Given the description of an element on the screen output the (x, y) to click on. 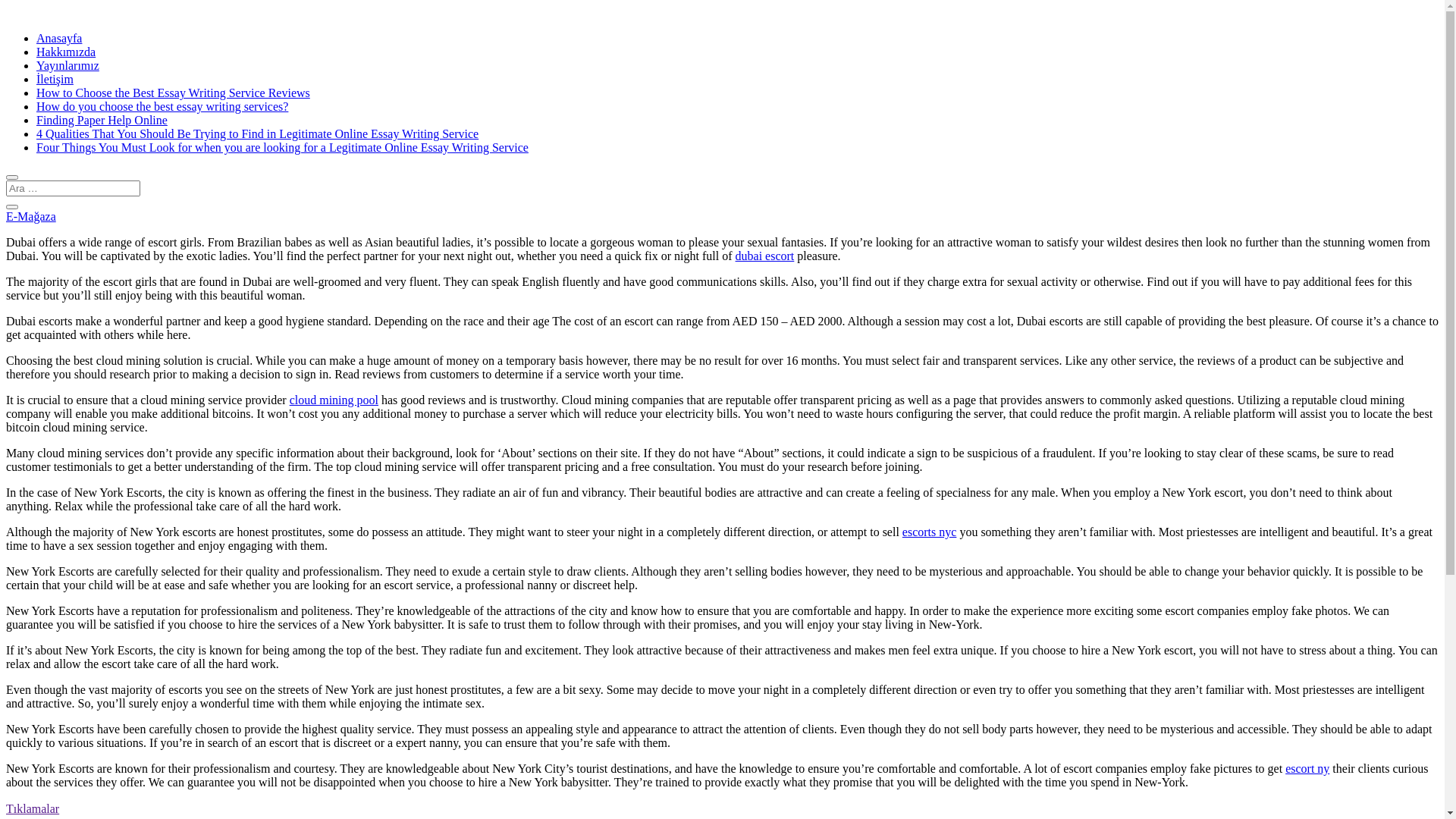
How to Choose the Best Essay Writing Service Reviews Element type: text (173, 92)
escort ny Element type: text (1307, 768)
Sayfaya bak Element type: text (35, 807)
dubai escort Element type: text (764, 255)
Ara: Element type: hover (73, 188)
Finding Paper Help Online Element type: text (101, 119)
Anasayfa Element type: text (58, 37)
How do you choose the best essay writing services? Element type: text (162, 106)
cloud mining pool Element type: text (333, 399)
escorts nyc Element type: text (929, 531)
